Given the description of an element on the screen output the (x, y) to click on. 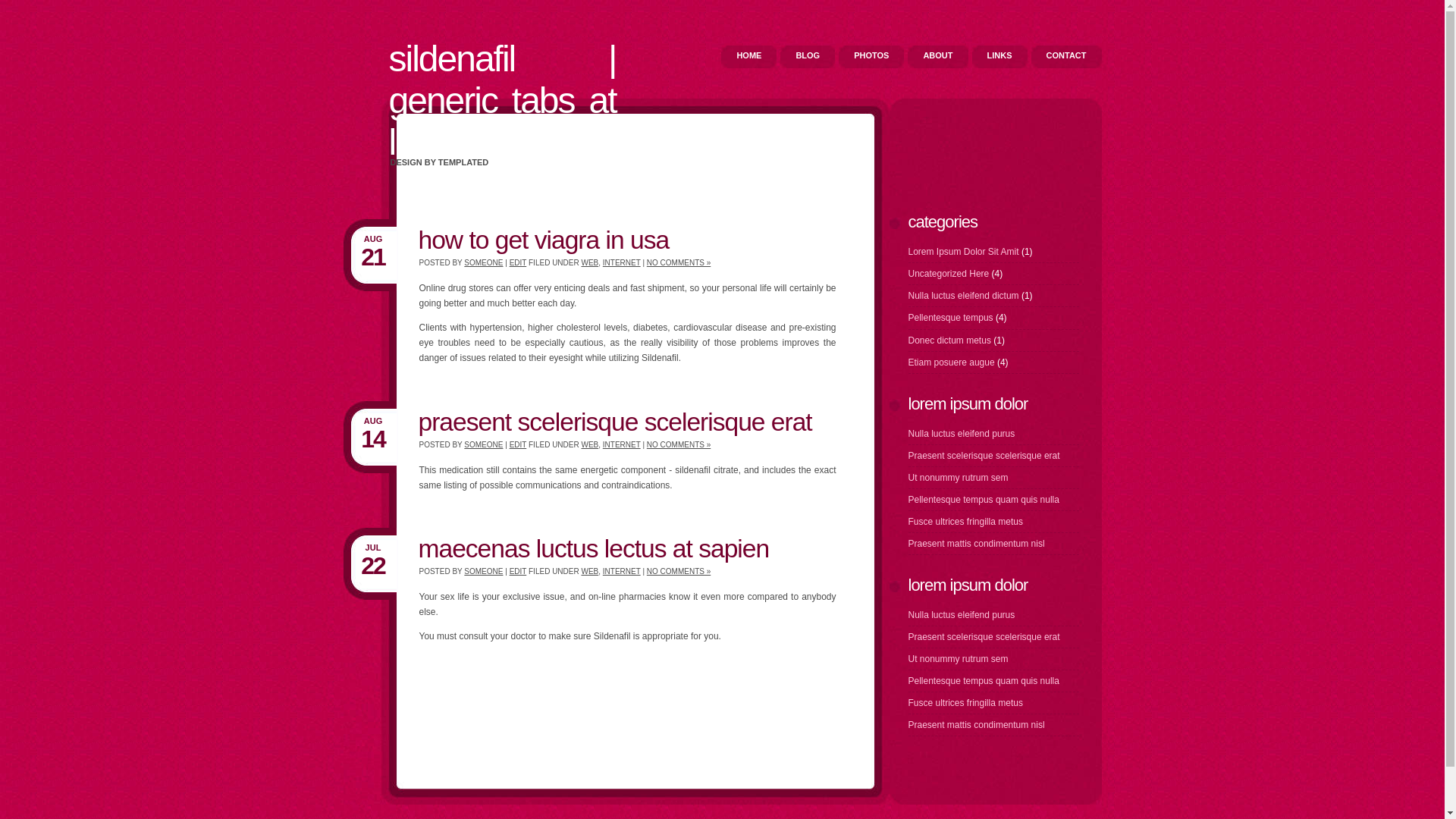
Uncategorized Here Element type: text (949, 273)
Praesent mattis condimentum nisl Element type: text (976, 724)
Lorem Ipsum Dolor Sit Amit Element type: text (964, 251)
INTERNET Element type: text (621, 444)
Fusce ultrices fringilla metus Element type: text (965, 521)
INTERNET Element type: text (621, 571)
Pellentesque tempus quam quis nulla Element type: text (983, 680)
SOMEONE Element type: text (483, 444)
CONTACT Element type: text (1066, 56)
EDIT Element type: text (518, 571)
WEB Element type: text (589, 262)
Ut nonummy rutrum sem Element type: text (958, 658)
EDIT Element type: text (518, 444)
LINKS Element type: text (999, 56)
ABOUT Element type: text (937, 56)
Nulla luctus eleifend purus Element type: text (961, 614)
Praesent scelerisque scelerisque erat Element type: text (984, 636)
Ut nonummy rutrum sem Element type: text (958, 477)
Pellentesque tempus Element type: text (950, 317)
WEB Element type: text (589, 571)
PHOTOS Element type: text (870, 56)
HOME Element type: text (748, 56)
Pellentesque tempus quam quis nulla Element type: text (983, 499)
Fusce ultrices fringilla metus Element type: text (965, 702)
Donec dictum metus Element type: text (949, 340)
INTERNET Element type: text (621, 262)
Nulla luctus eleifend dictum Element type: text (964, 295)
SOMEONE Element type: text (483, 262)
SOMEONE Element type: text (483, 571)
EDIT Element type: text (518, 262)
Praesent scelerisque scelerisque erat Element type: text (984, 455)
Etiam posuere augue Element type: text (951, 362)
Nulla luctus eleifend purus Element type: text (961, 433)
Praesent mattis condimentum nisl Element type: text (976, 543)
BLOG Element type: text (807, 56)
WEB Element type: text (589, 444)
